Given the description of an element on the screen output the (x, y) to click on. 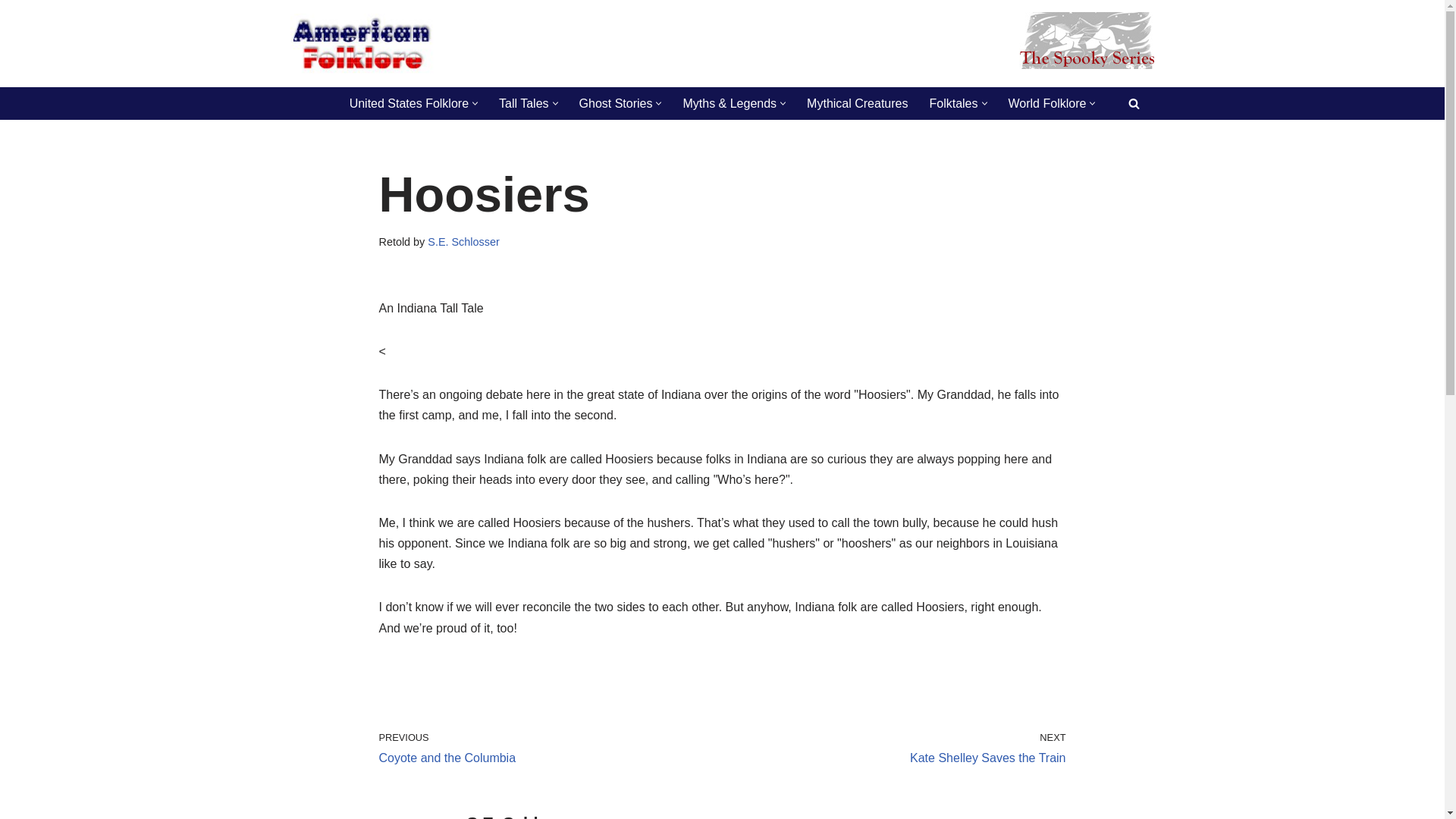
Folktales (952, 103)
Skip to content (11, 31)
Posts by S.E. Schlosser (463, 241)
Ghost Stories (615, 103)
Mythical Creatures (856, 103)
Tall Tales (523, 103)
United States Folklore (408, 103)
World Folklore (1047, 103)
